Given the description of an element on the screen output the (x, y) to click on. 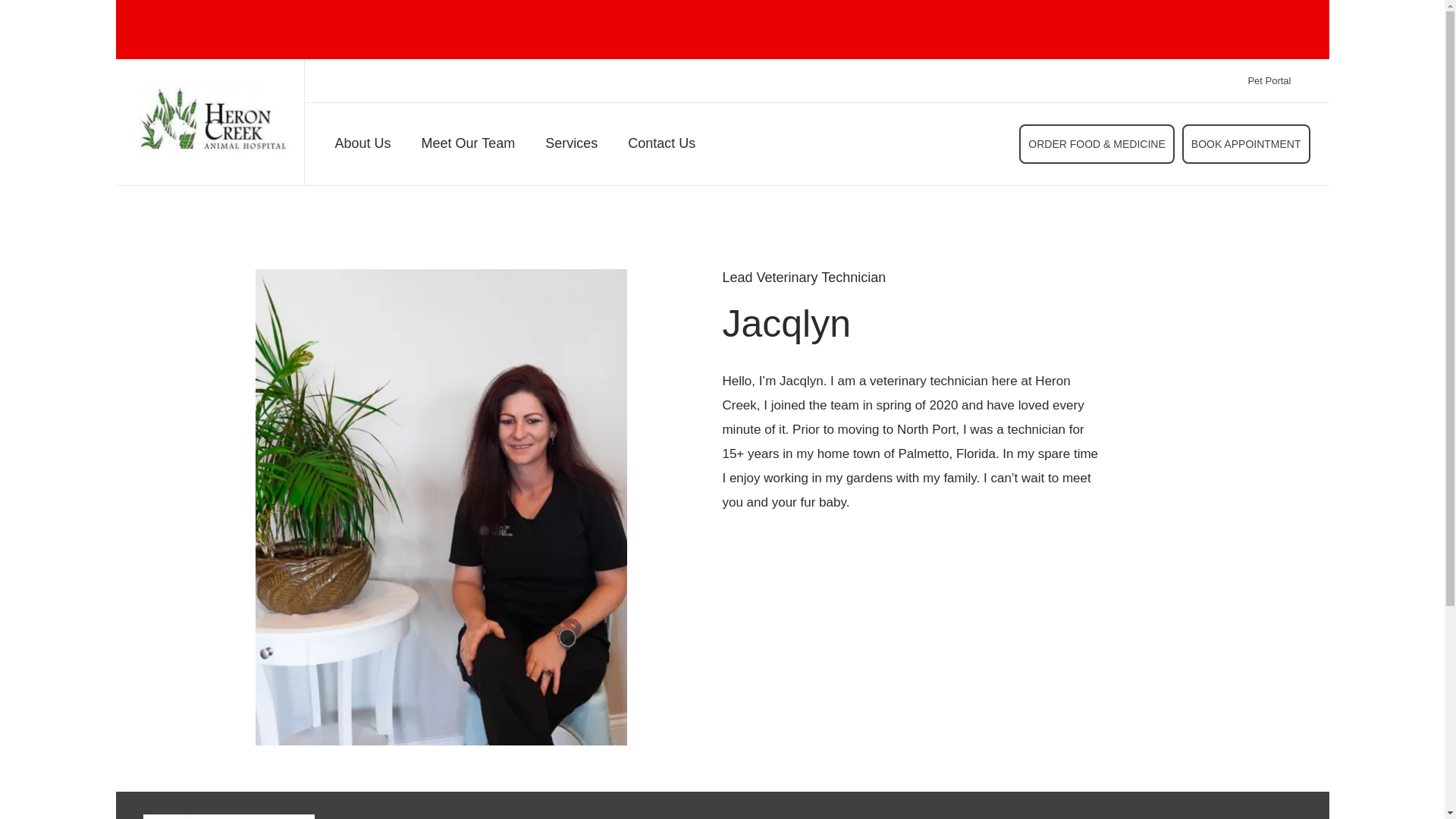
Pet Portal (1268, 80)
Contact Us (661, 146)
Logo (229, 816)
Meet Our Team (468, 146)
About Us (362, 146)
Book Appointment (1246, 143)
Meet Our Team (468, 146)
BOOK APPOINTMENT (1246, 143)
Contact Us (661, 146)
Services (570, 146)
